Given the description of an element on the screen output the (x, y) to click on. 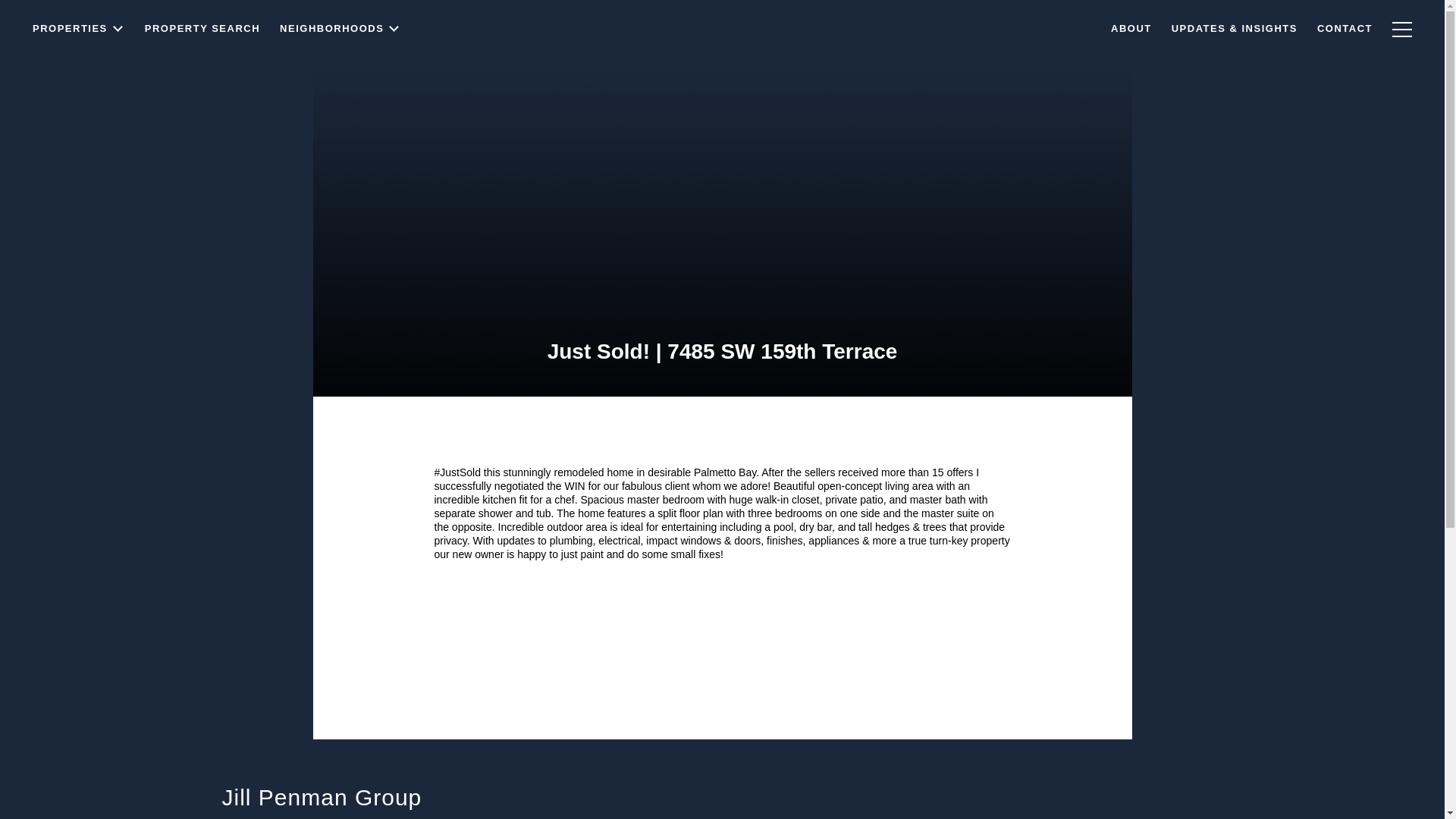
NEIGHBORHOODS (339, 60)
PROPERTY SEARCH (202, 63)
ABOUT (1130, 40)
CONTACT (1344, 37)
PROPERTIES (79, 69)
